Given the description of an element on the screen output the (x, y) to click on. 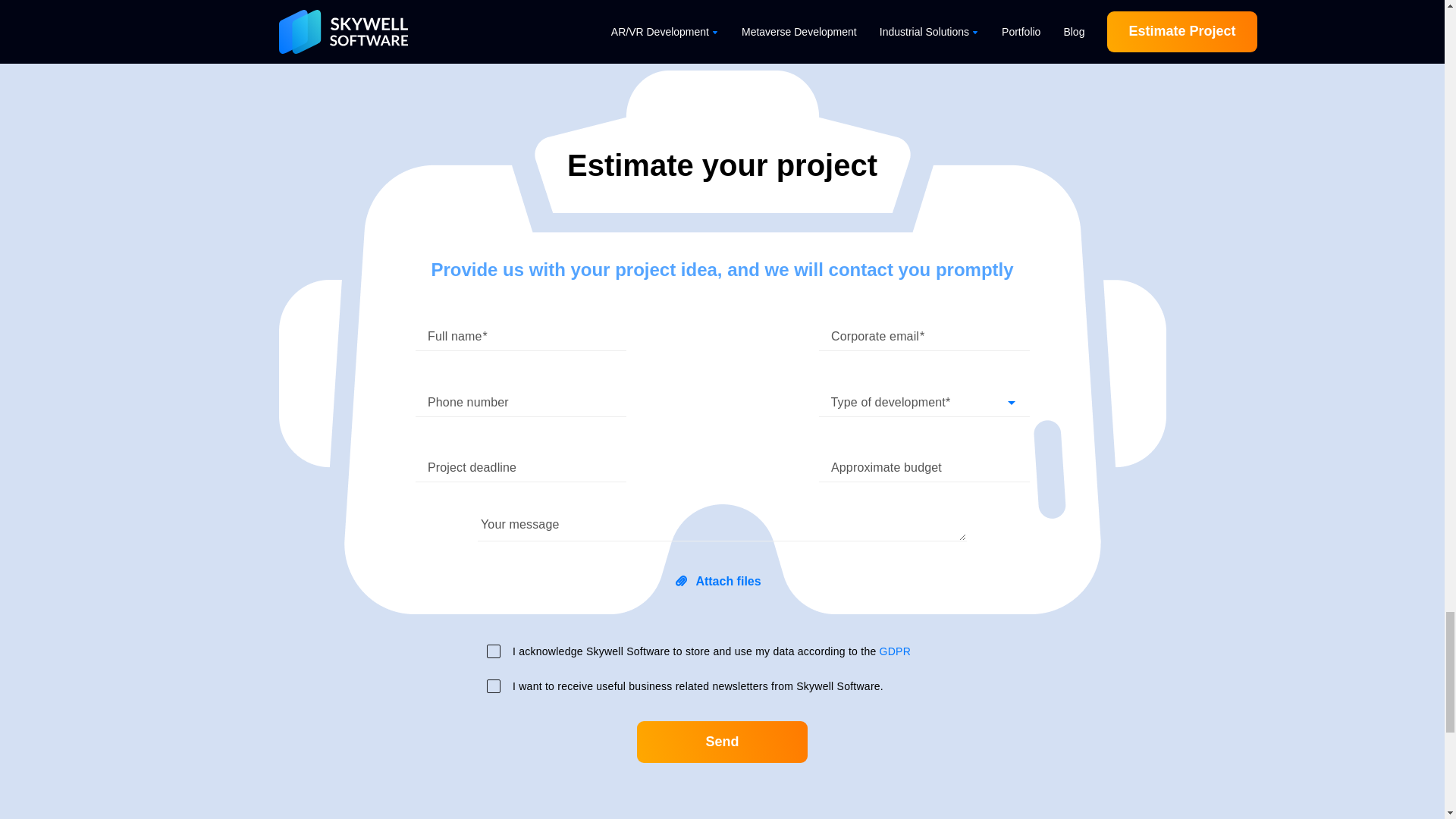
Send (721, 742)
Send (721, 742)
GDPR (895, 651)
